Given the description of an element on the screen output the (x, y) to click on. 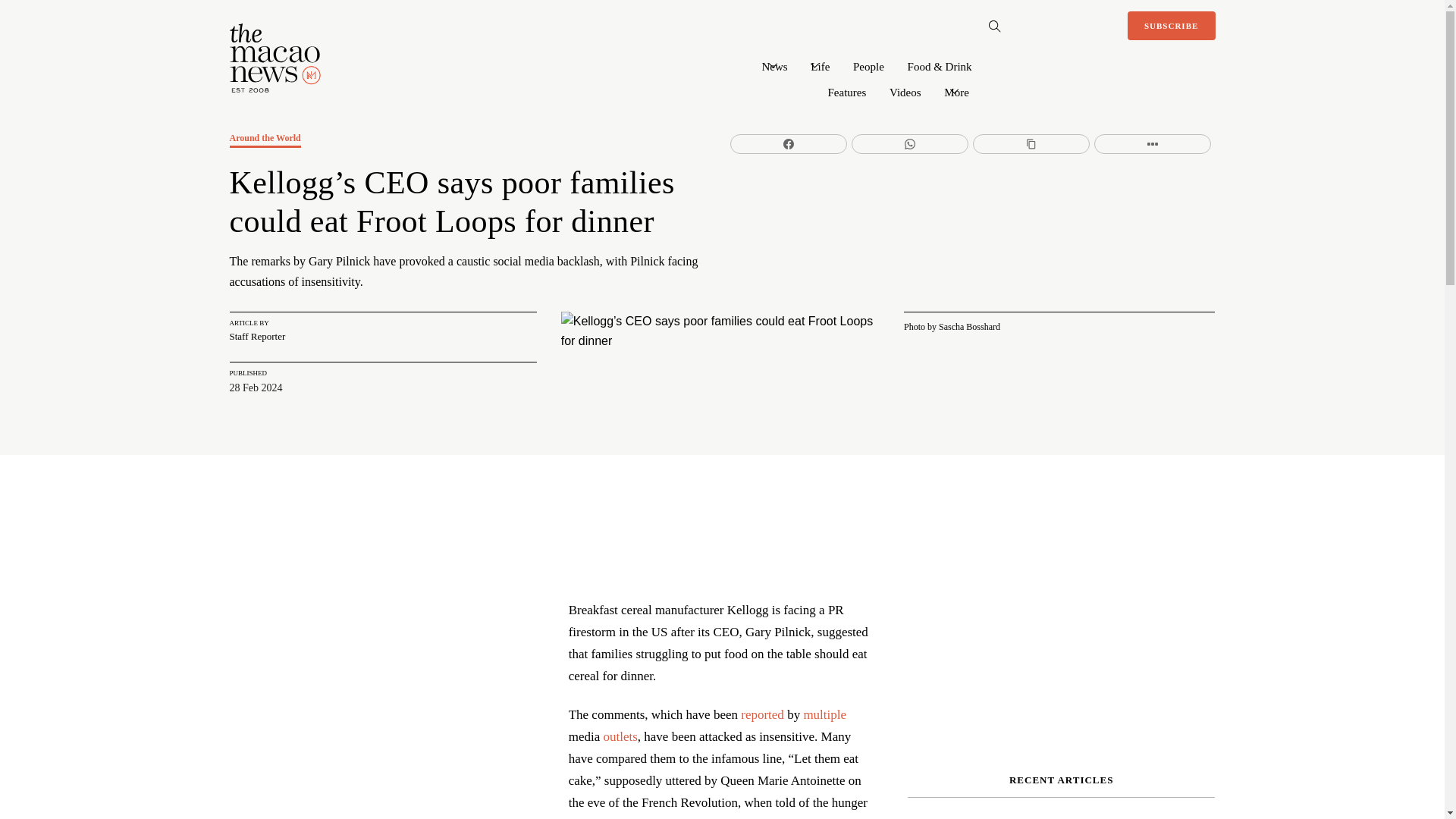
Share on Copy Link (1030, 143)
Share on More Button (1152, 143)
Share on WhatsApp (909, 143)
Share on Facebook (788, 143)
